Given the description of an element on the screen output the (x, y) to click on. 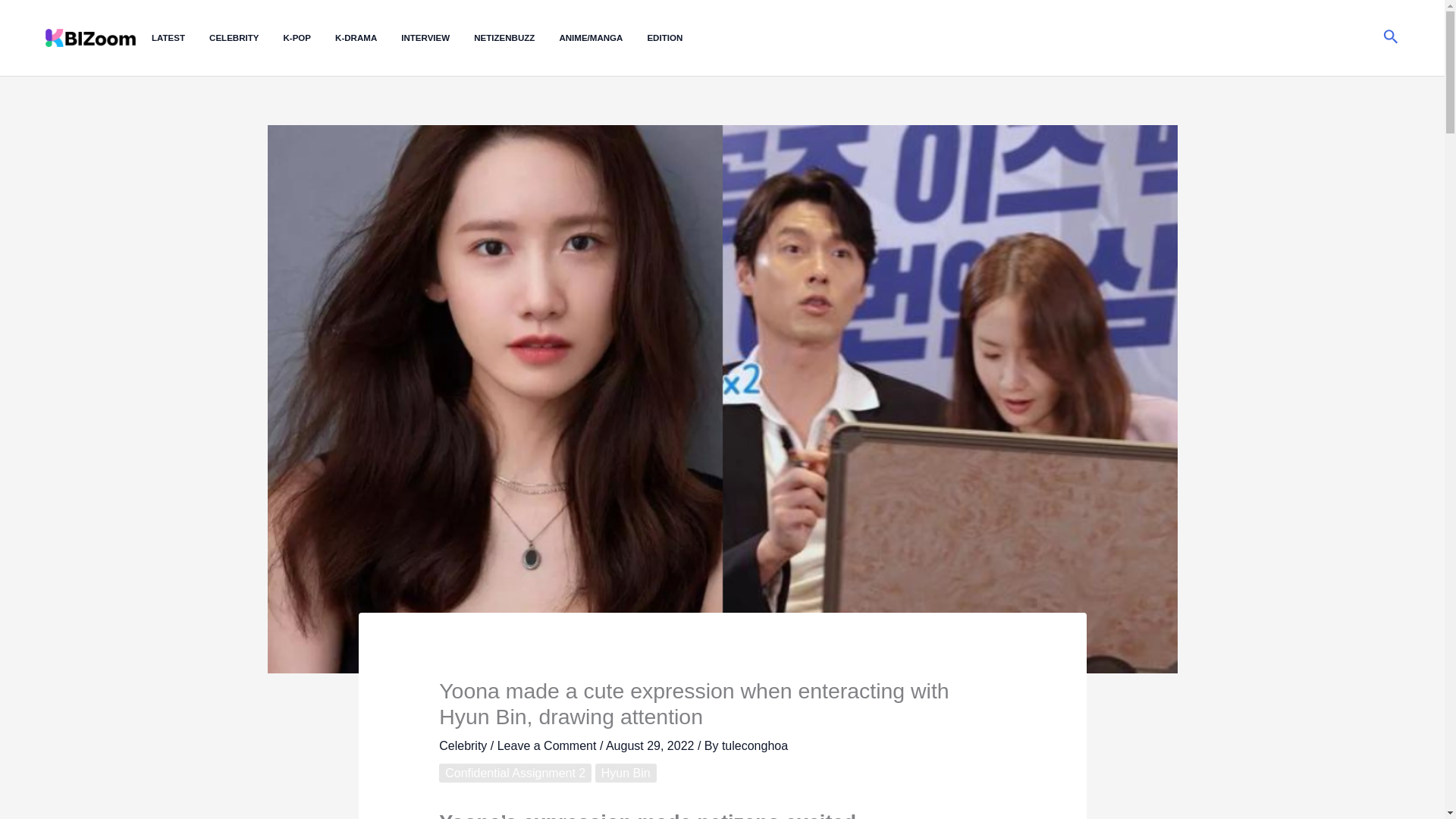
tuleconghoa (754, 745)
Celebrity (462, 745)
NETIZENBUZZ (516, 38)
Hyun Bin (625, 772)
INTERVIEW (437, 38)
Leave a Comment (546, 745)
View all posts by tuleconghoa (754, 745)
Confidential Assignment 2 (515, 772)
CELEBRITY (245, 38)
